Given the description of an element on the screen output the (x, y) to click on. 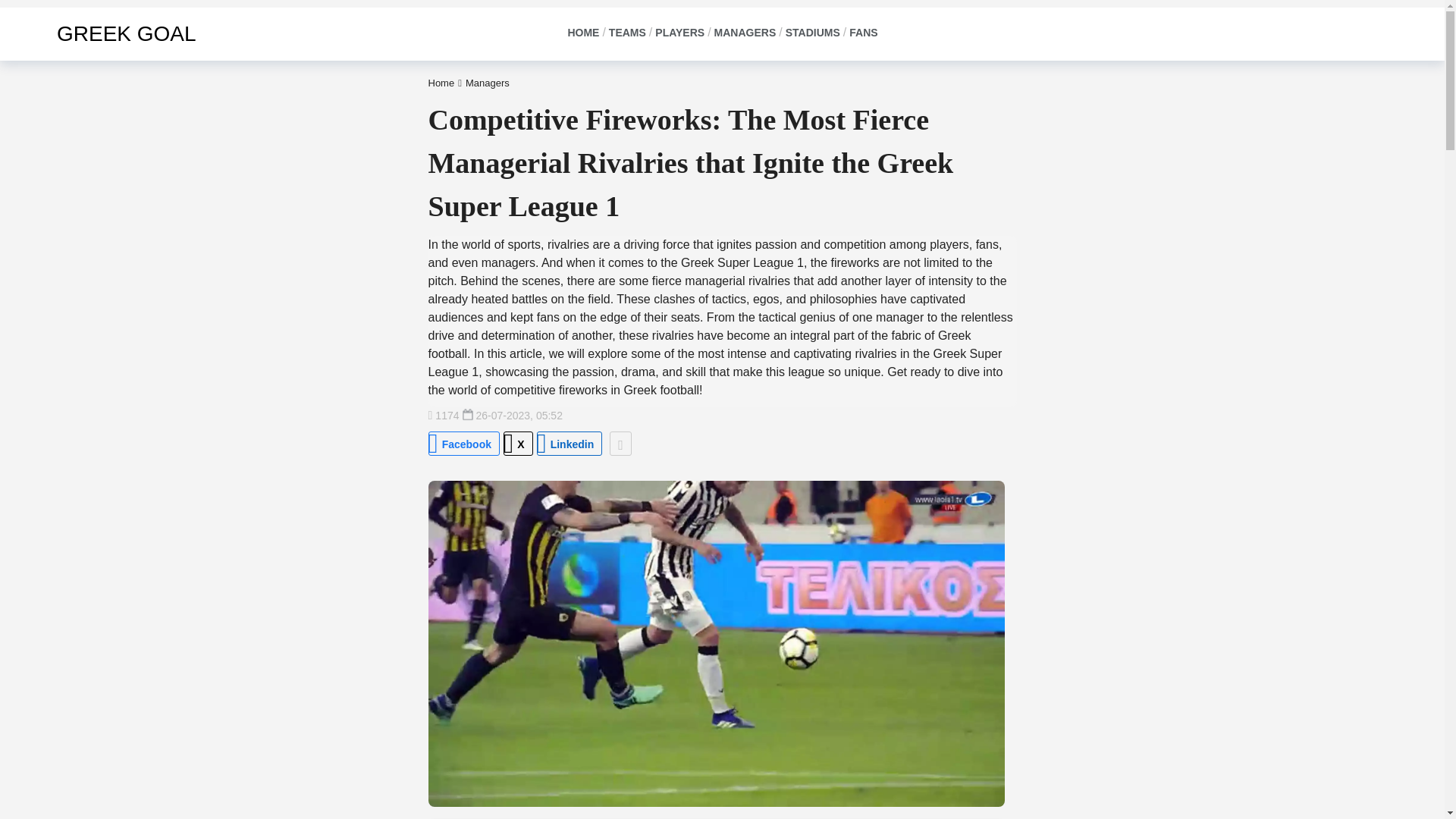
GREEK GOAL (105, 33)
MANAGERS (744, 32)
Views (443, 415)
Share via X (517, 443)
Managers (487, 82)
Share via Linkedin (569, 443)
PLAYERS (679, 32)
Home (441, 82)
STADIUMS (812, 32)
Share via Facebook (463, 443)
